Given the description of an element on the screen output the (x, y) to click on. 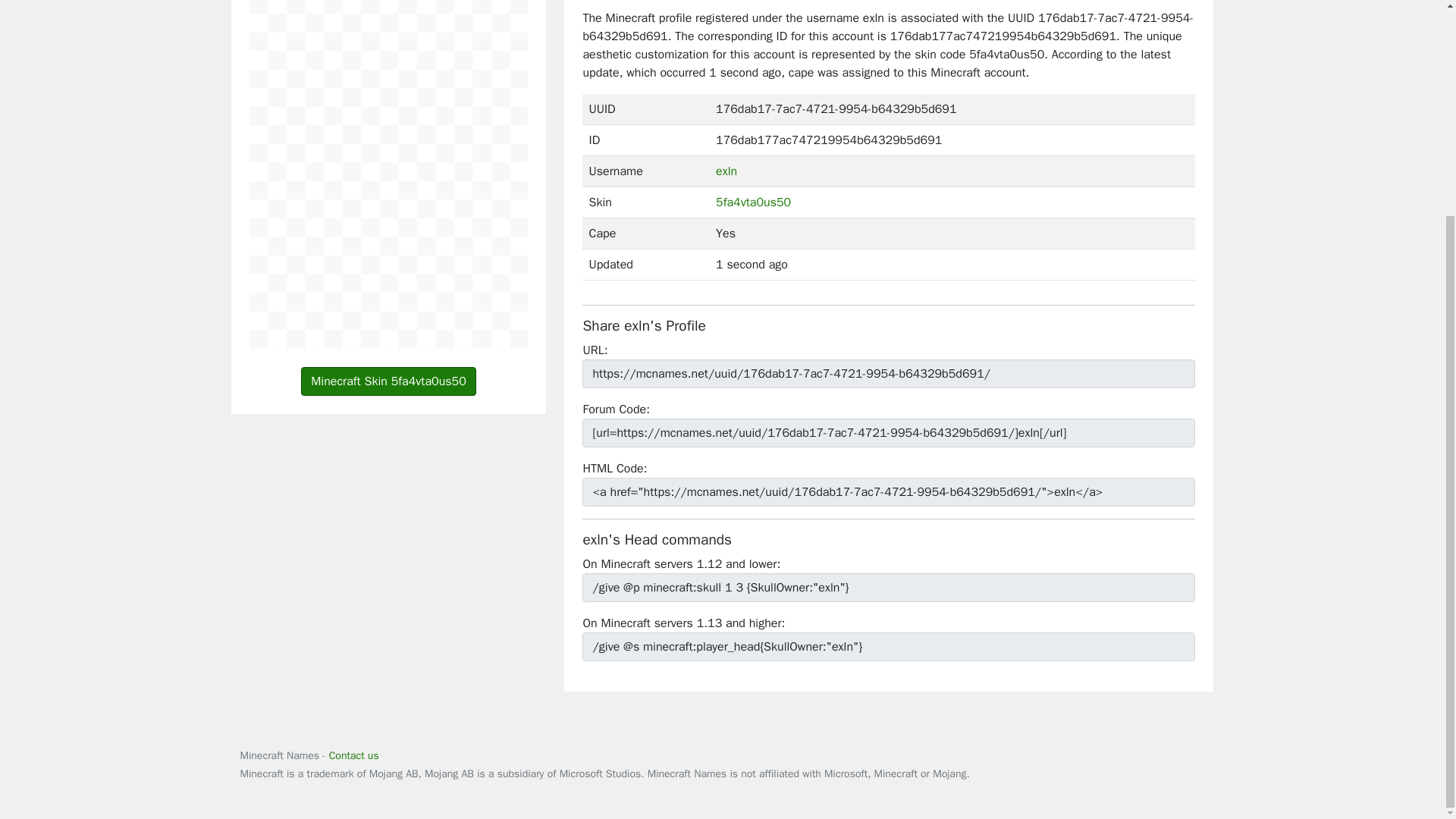
5fa4vta0us50 (753, 201)
Minecraft Skin 5fa4vta0us50 (388, 380)
Contact us (353, 755)
exln (726, 171)
